Given the description of an element on the screen output the (x, y) to click on. 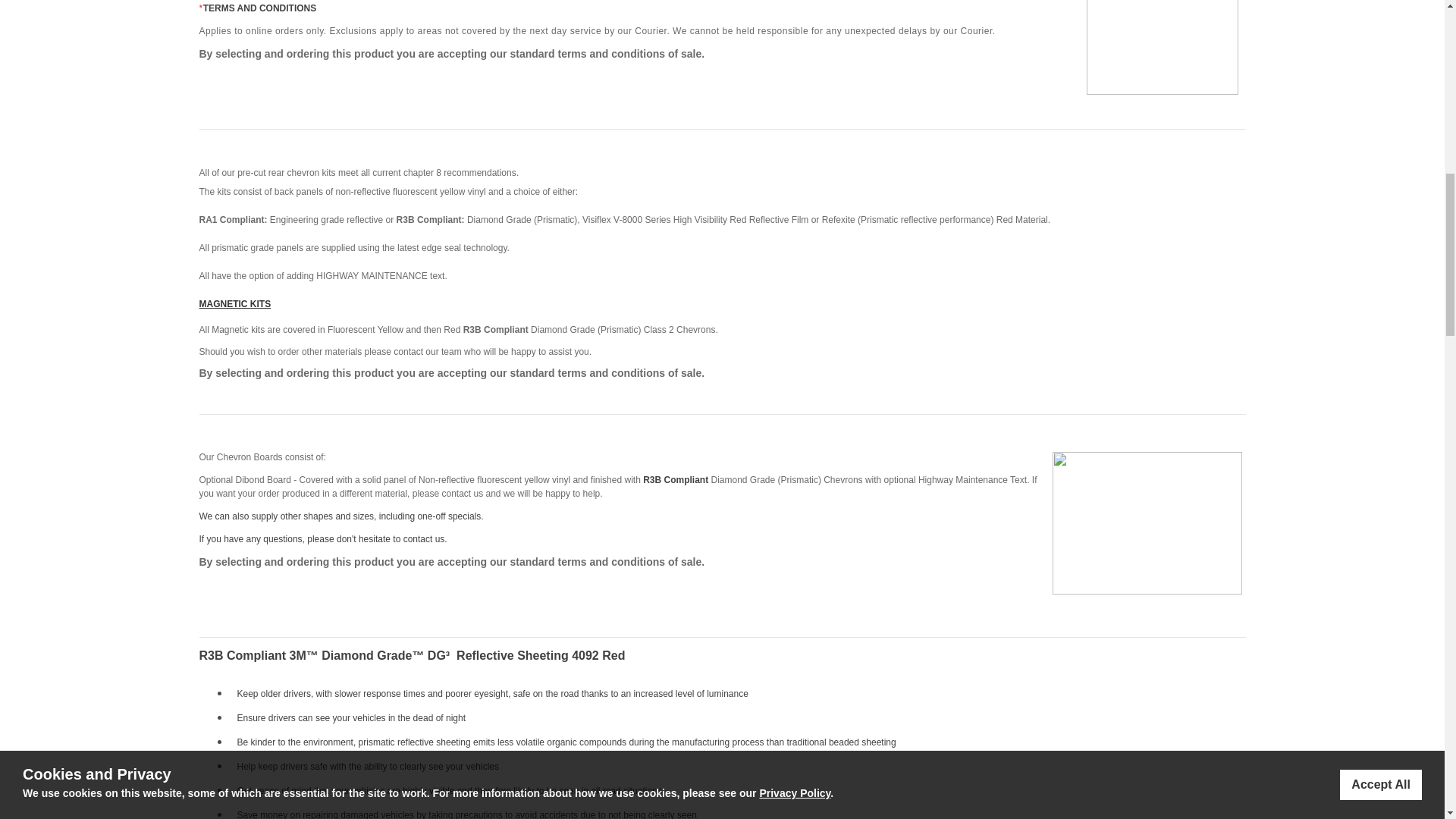
contact (408, 351)
